Given the description of an element on the screen output the (x, y) to click on. 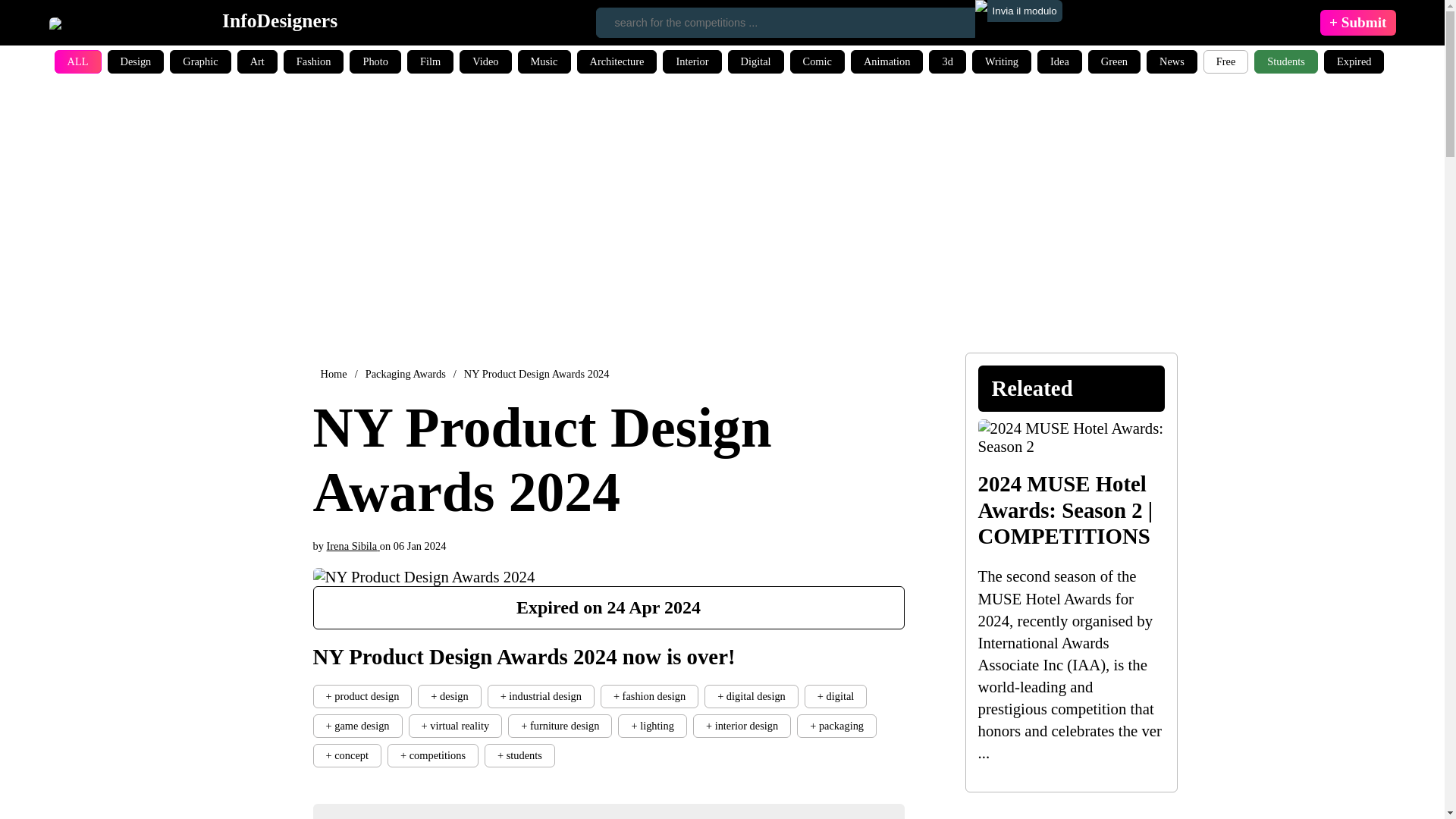
Photo (375, 61)
animation competitions (886, 61)
Packaging Awards (405, 373)
interior design competitions (691, 61)
ALL (78, 61)
InfoDesigners (192, 22)
Writing (1001, 61)
green awards (1113, 61)
idea awards (1058, 61)
Film (429, 61)
Students (1285, 61)
Music (544, 61)
Architecture (616, 61)
Video (485, 61)
graphic design competitions (200, 61)
